Given the description of an element on the screen output the (x, y) to click on. 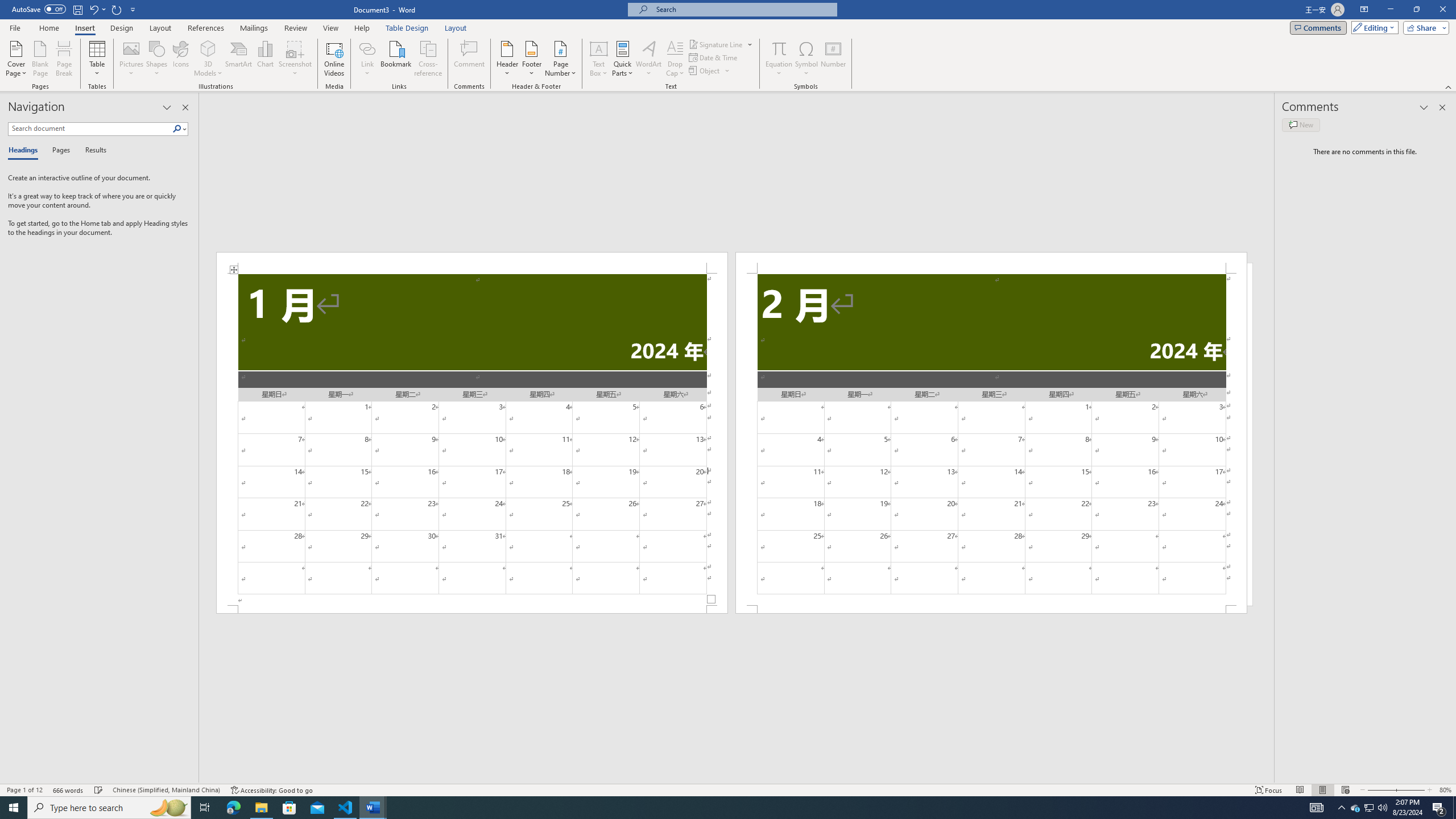
Design (122, 28)
Task Pane Options (167, 107)
New comment (1300, 124)
Search document (89, 128)
Icons (180, 58)
Repeat Doc Close (117, 9)
File Tab (15, 27)
Focus  (1268, 790)
Mode (1372, 27)
Zoom In (1408, 790)
SmartArt... (238, 58)
Quick Parts (622, 58)
Undo Increase Indent (96, 9)
Equation (778, 48)
